Given the description of an element on the screen output the (x, y) to click on. 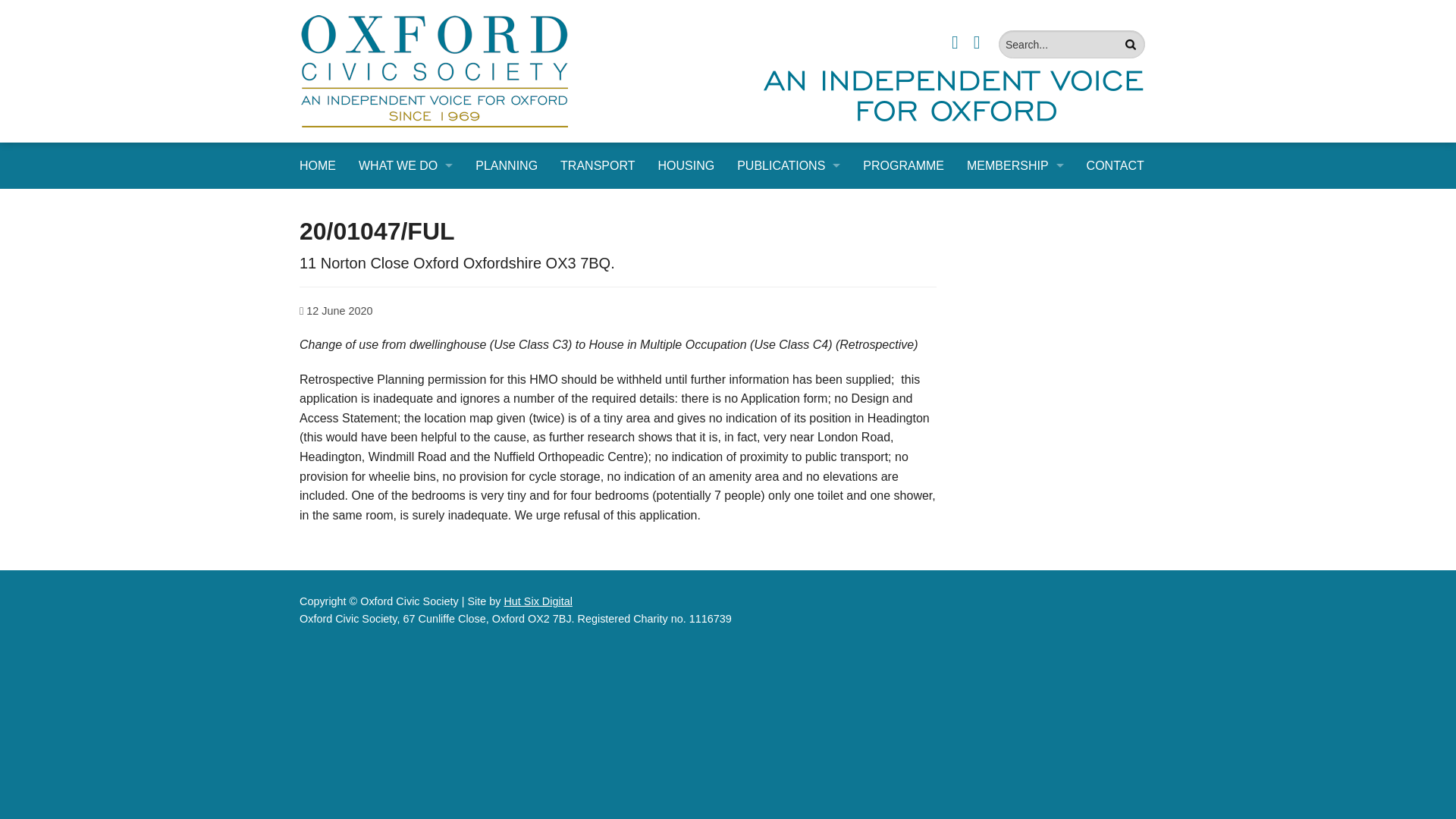
CONTACT (1115, 165)
GOVERNANCE (405, 410)
CORPORATE MEMBERSHIP (1015, 205)
PROGRAMME (903, 165)
VOLUNTEERS (1015, 239)
WHAT WE DO (405, 165)
PLANNING (506, 165)
ASSOCIATES (405, 444)
WALKS IN OXFORD (405, 512)
TRANSPORT (597, 165)
